Given the description of an element on the screen output the (x, y) to click on. 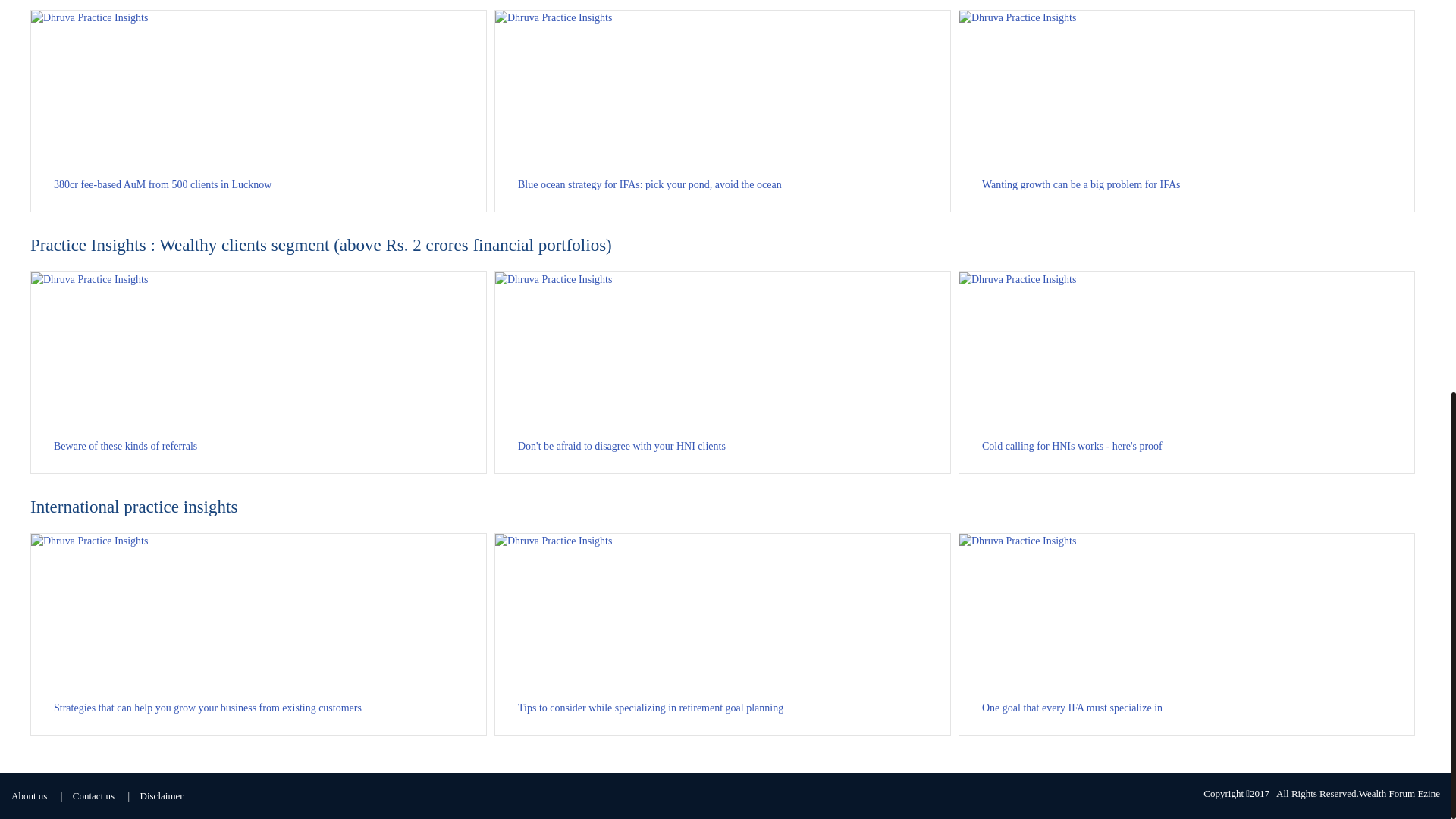
Cold calling for HNIs works - here's proof (1186, 372)
Wanting growth can be a big problem for IFAs (1186, 110)
380cr fee-based AuM from 500 clients in Lucknow (258, 110)
Wanting growth can be a big problem for IFAs (1186, 110)
Don't be afraid to disagree with your HNI clients (722, 372)
380cr fee-based AuM from 500 clients in Lucknow (258, 110)
Beware of these kinds of referrals (258, 372)
